Given the description of an element on the screen output the (x, y) to click on. 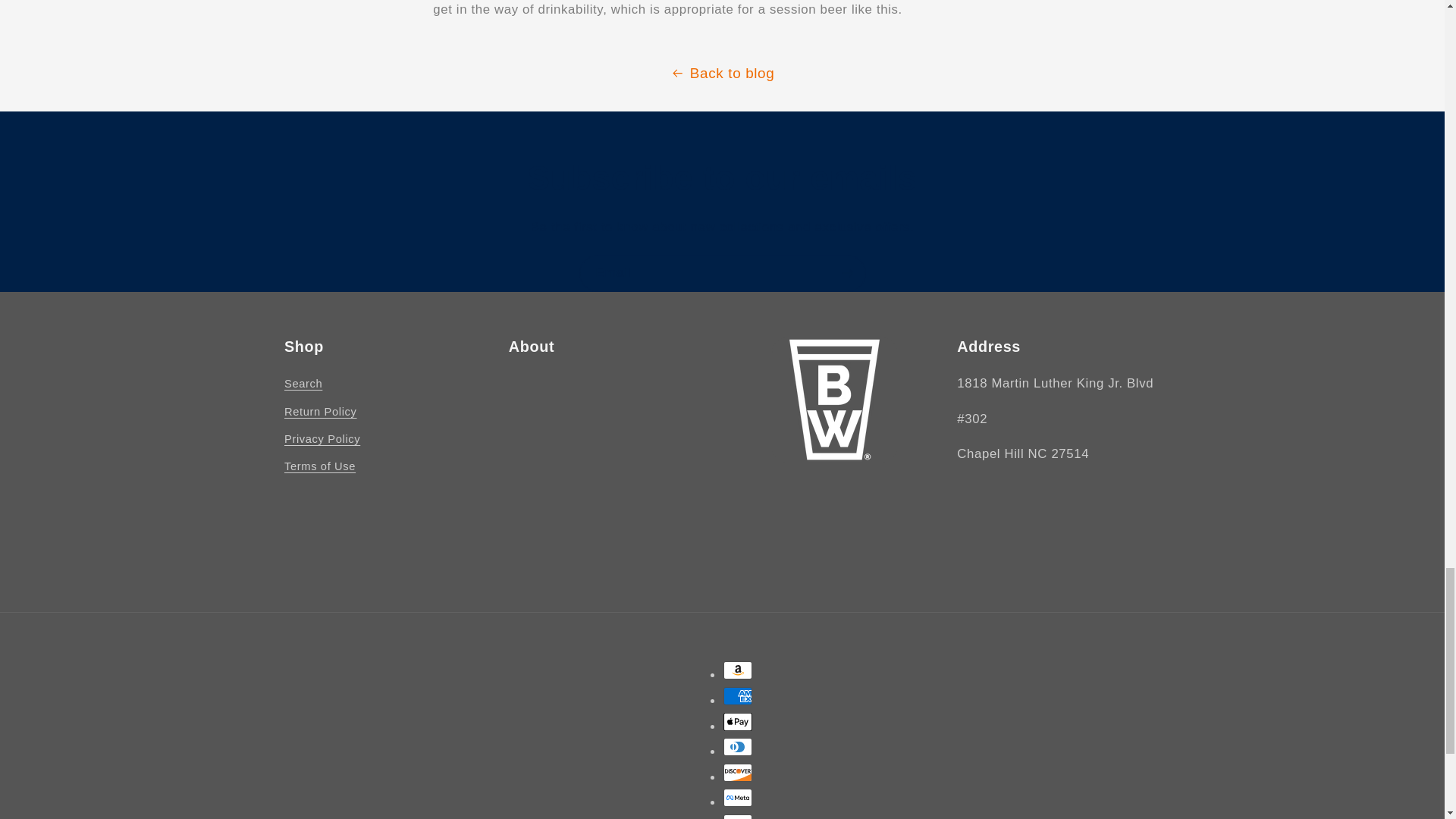
Google Pay (737, 816)
Diners Club (737, 746)
American Express (737, 696)
Discover (737, 772)
Amazon (737, 669)
Meta Pay (737, 797)
Apple Pay (737, 721)
